Given the description of an element on the screen output the (x, y) to click on. 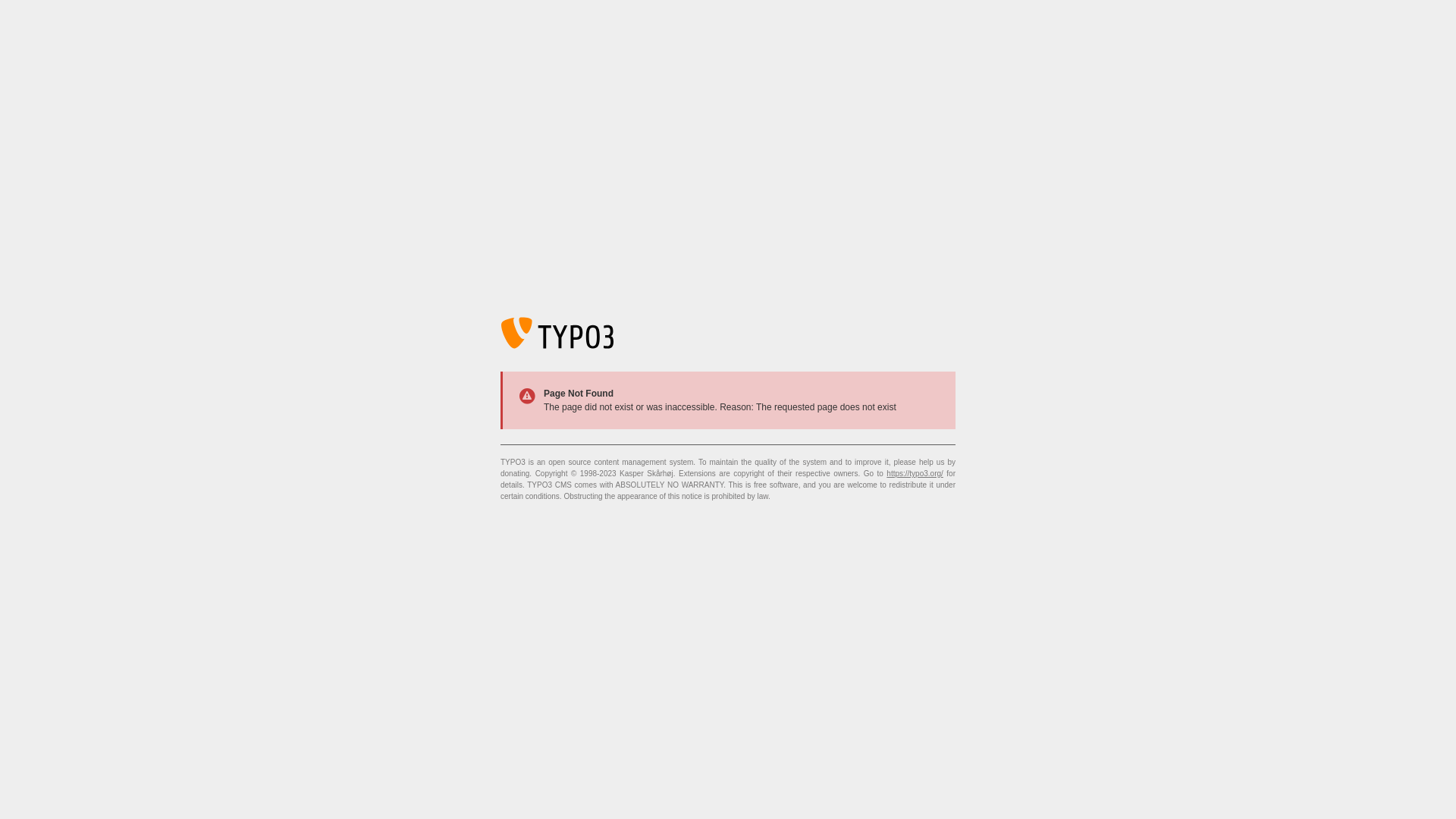
https://typo3.org/ Element type: text (914, 473)
